Given the description of an element on the screen output the (x, y) to click on. 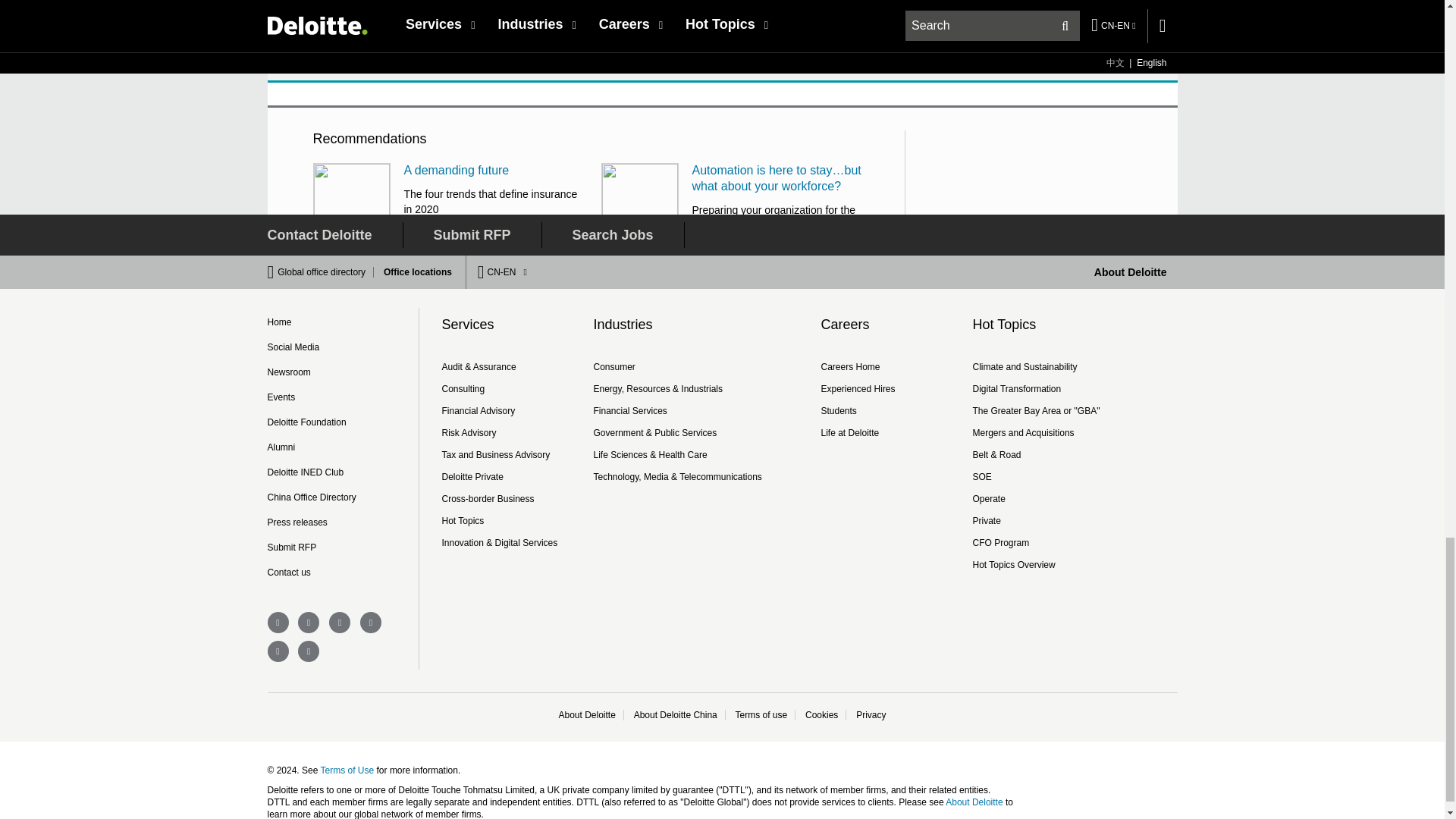
About Deloitte (1130, 272)
Share via... (324, 58)
Global office directory (326, 271)
Share via... (392, 58)
Share via... (460, 58)
Share via... (426, 58)
Office locations (413, 271)
deloitte china facebook (277, 622)
Share via... (358, 58)
deloitte china twitter (308, 622)
